Given the description of an element on the screen output the (x, y) to click on. 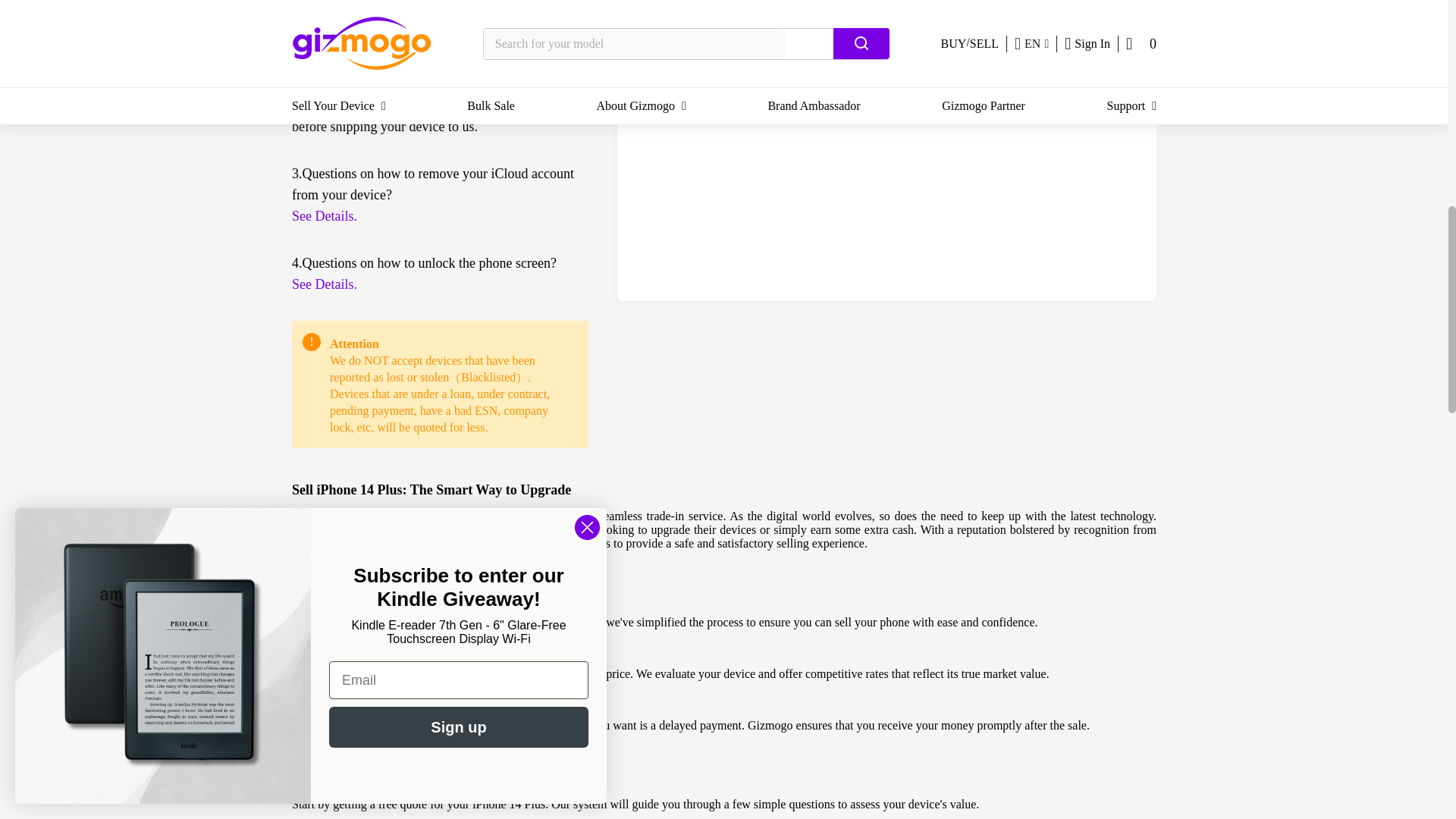
See Details. (440, 215)
See Details. (440, 283)
